Given the description of an element on the screen output the (x, y) to click on. 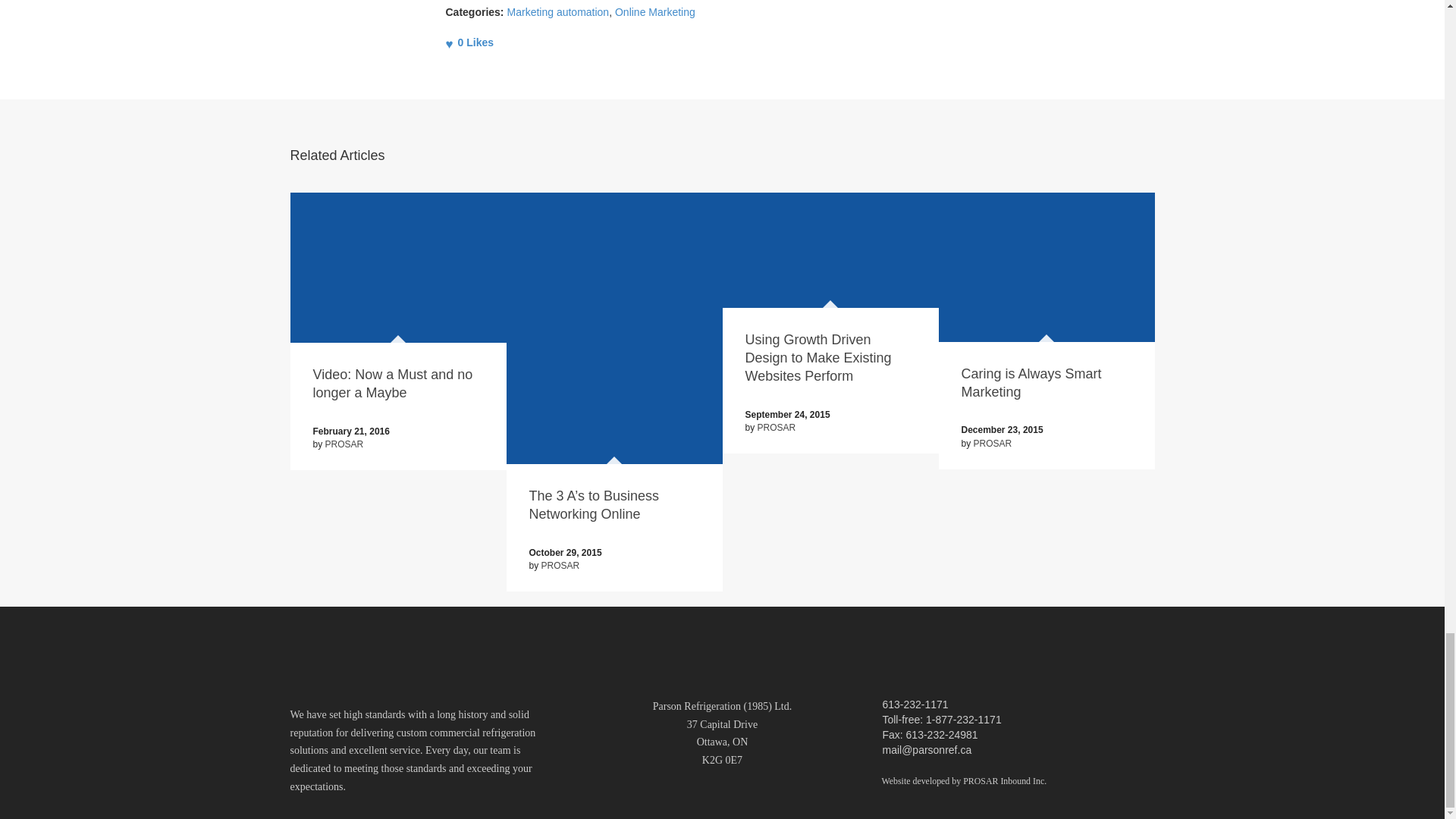
Marketing automation (558, 11)
Video: Now a Must and no longer a Maybe (392, 383)
PROSAR (560, 565)
0 Likes (470, 42)
Online Marketing (654, 11)
PROSAR (344, 443)
